Given the description of an element on the screen output the (x, y) to click on. 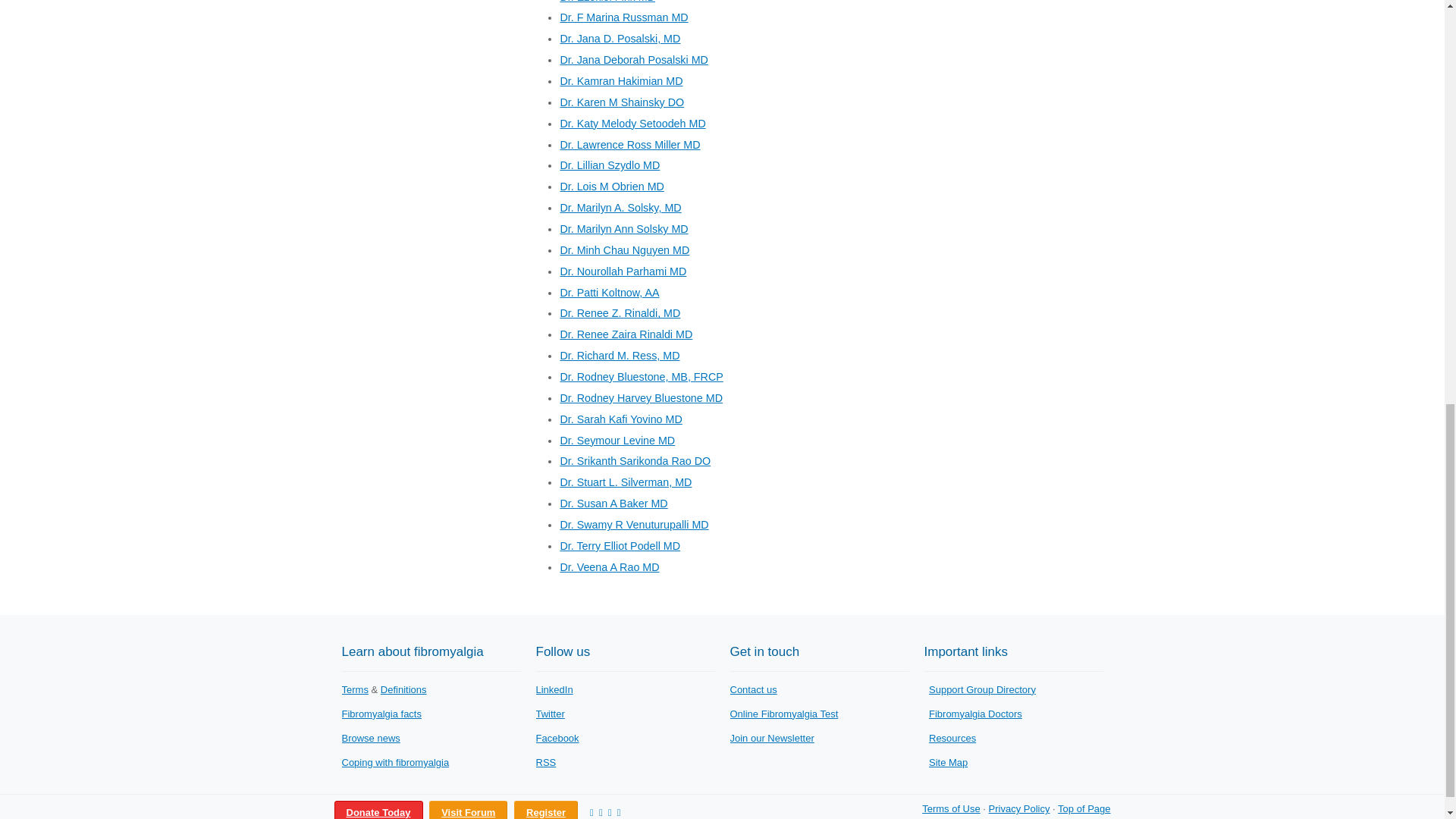
Facts about Fibromyalgia (380, 713)
Browse our news (369, 737)
Term listing (354, 689)
Definition listing (403, 689)
Dr. Ezekiel Fink MD (607, 1)
Coping with fibromyalgia (394, 762)
Dr. F Marina Russman MD (623, 17)
